Given the description of an element on the screen output the (x, y) to click on. 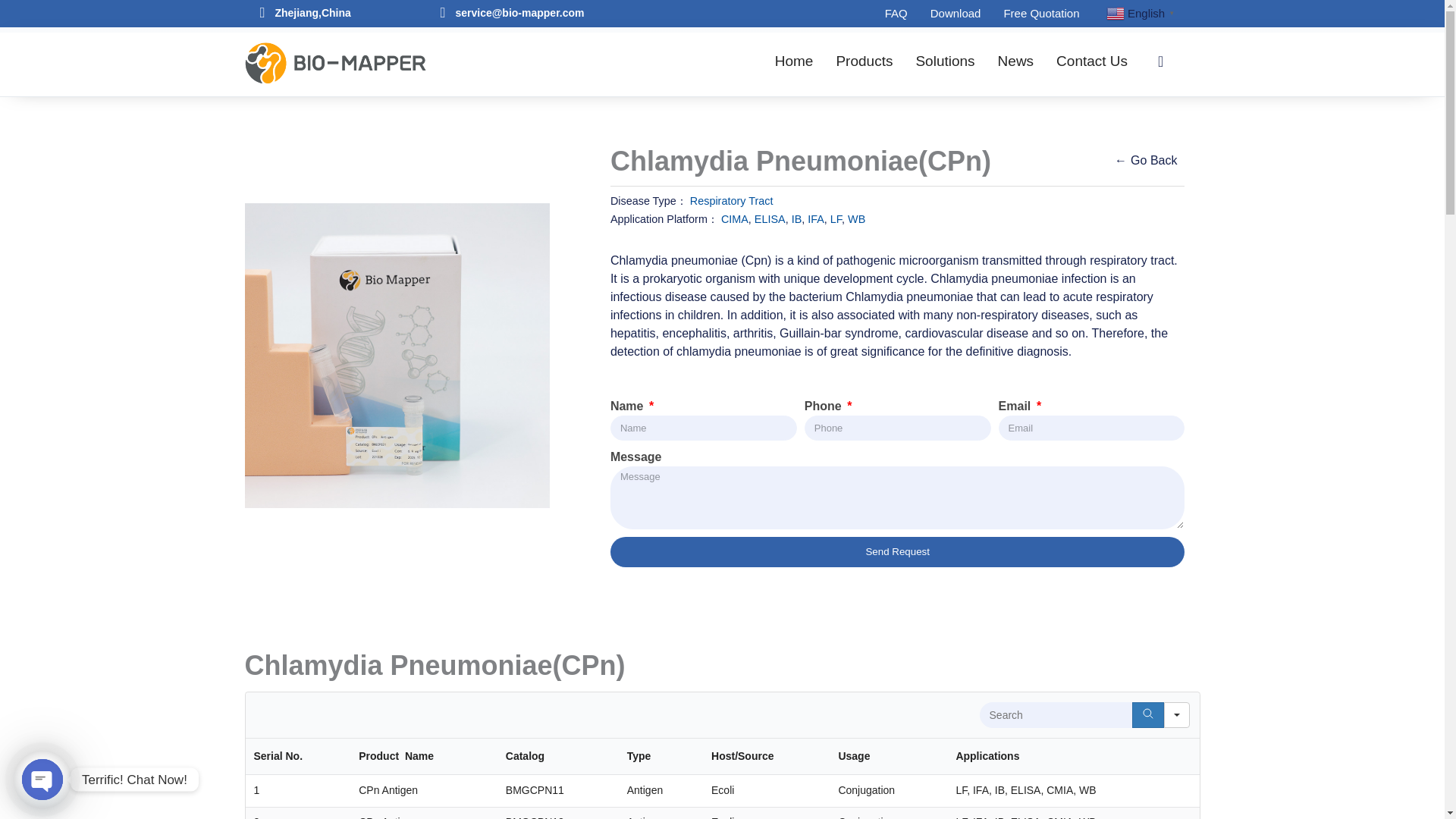
Products (864, 60)
Free Quotation (1040, 13)
Download (955, 13)
Home (793, 60)
FAQ (895, 13)
